Given the description of an element on the screen output the (x, y) to click on. 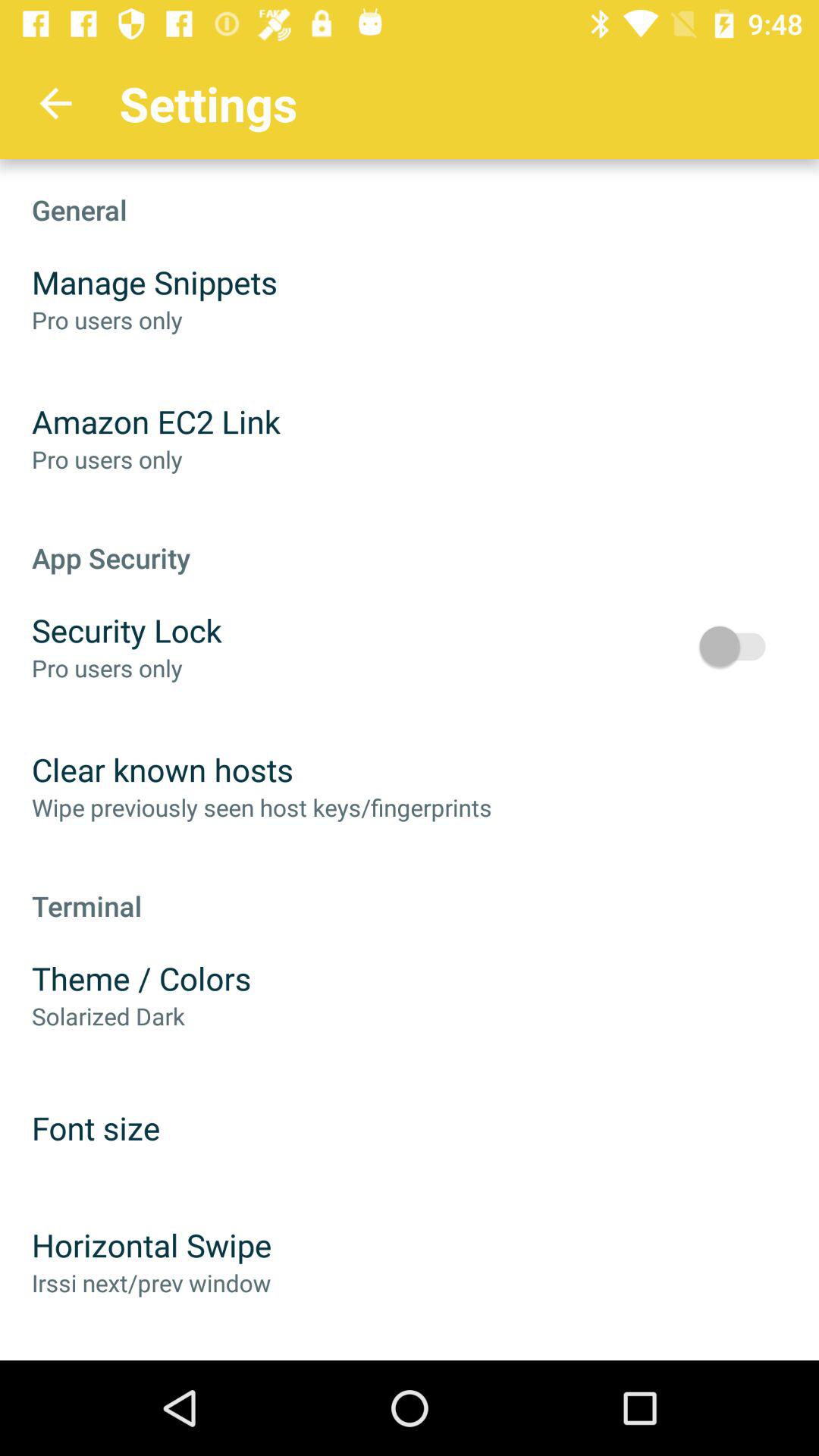
select the item above irssi next prev item (151, 1244)
